Given the description of an element on the screen output the (x, y) to click on. 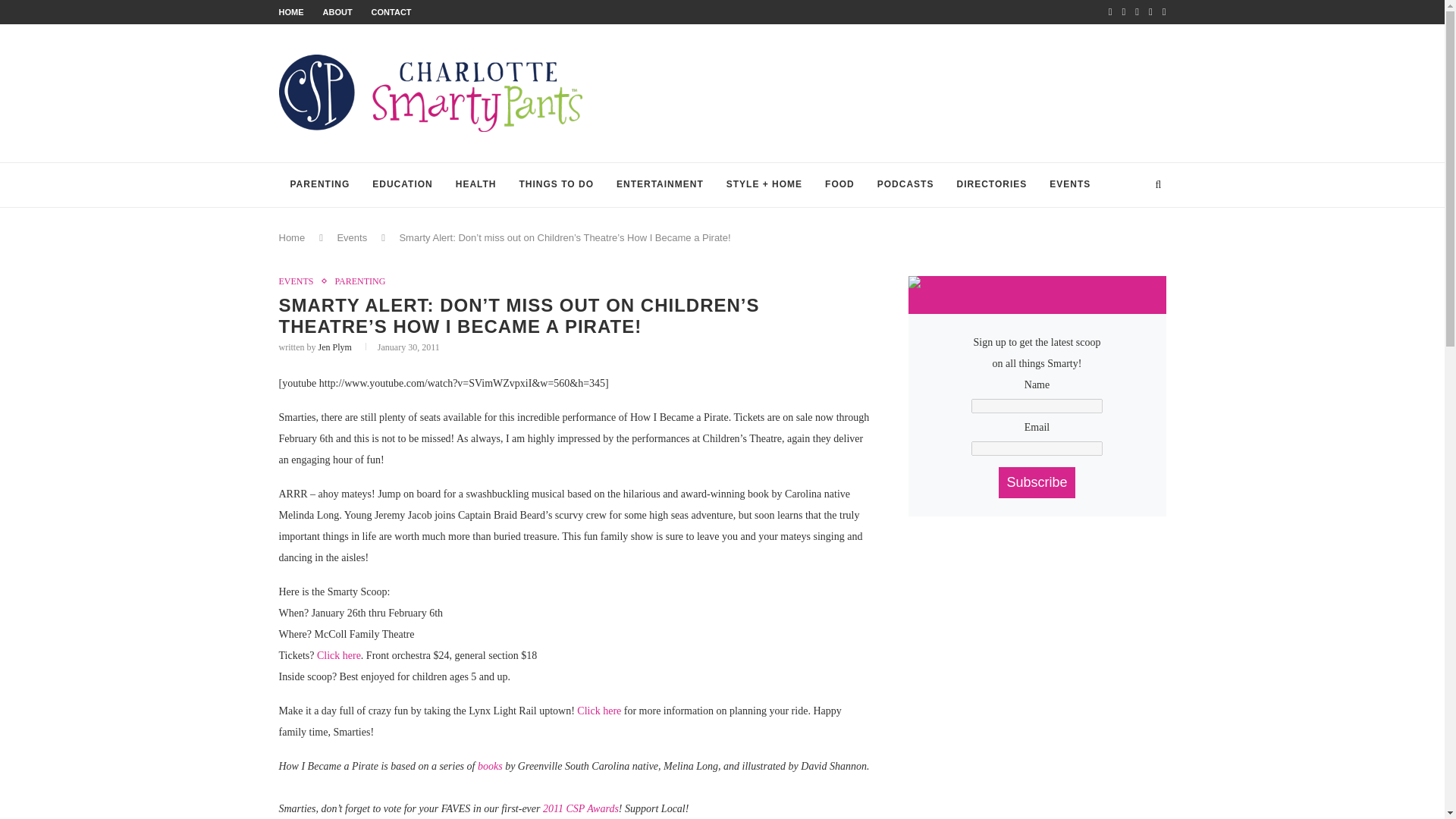
THINGS TO DO (556, 185)
ABOUT (337, 11)
HEALTH (476, 185)
CONTACT (391, 11)
EDUCATION (402, 185)
PARENTING (359, 281)
Jen Plym (335, 347)
Events (351, 237)
EVENTS (1070, 185)
DIRECTORIES (991, 185)
